Given the description of an element on the screen output the (x, y) to click on. 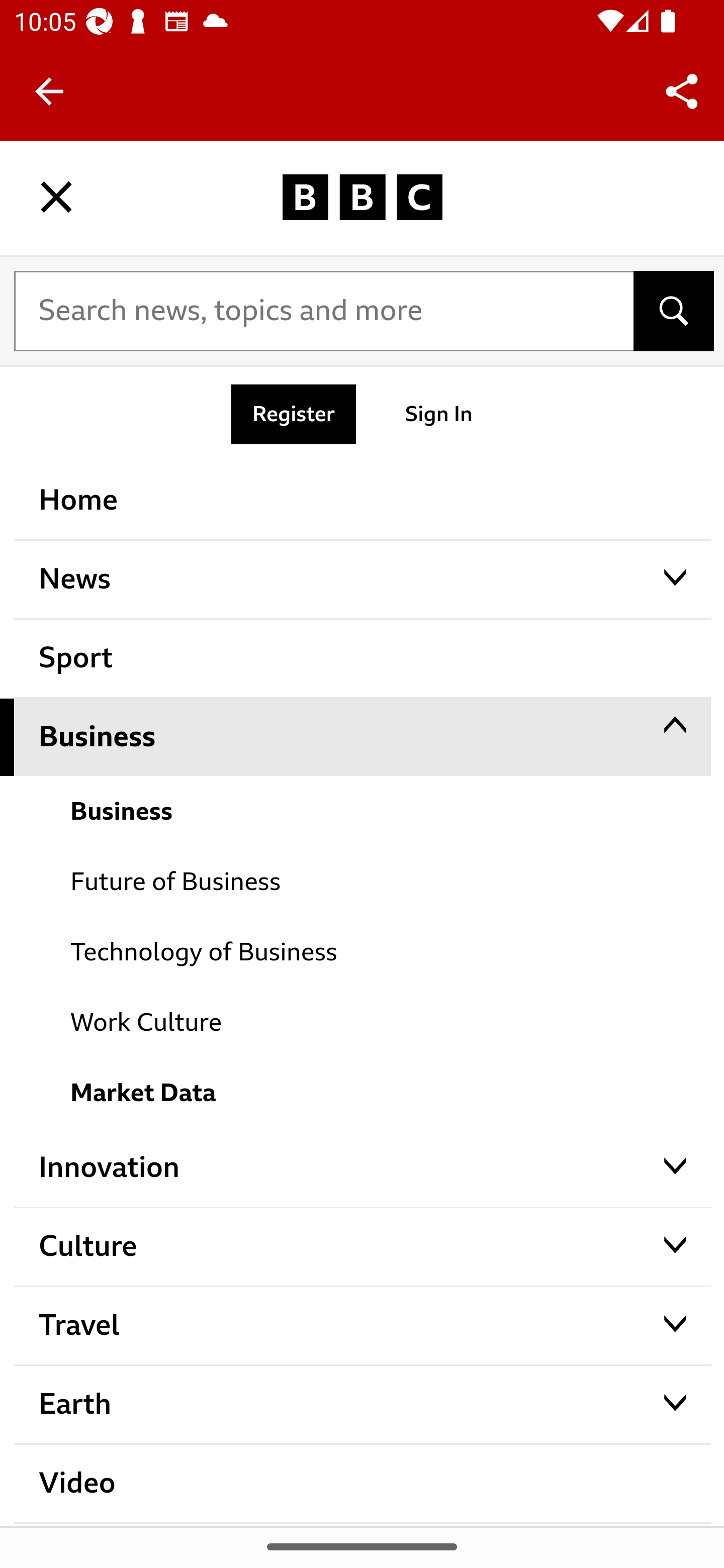
Back (49, 91)
Share (681, 90)
www.bbc (362, 196)
Register (293, 413)
Sign In (438, 413)
Home (362, 499)
News (362, 579)
Sport (362, 658)
Business (362, 736)
Business (362, 811)
Future of Business (362, 880)
Technology of Business (362, 950)
Work Culture (362, 1021)
Market Data (362, 1091)
Innovation (362, 1167)
Culture (362, 1246)
Culture (362, 1320)
Earth (362, 1404)
Video (362, 1483)
